Given the description of an element on the screen output the (x, y) to click on. 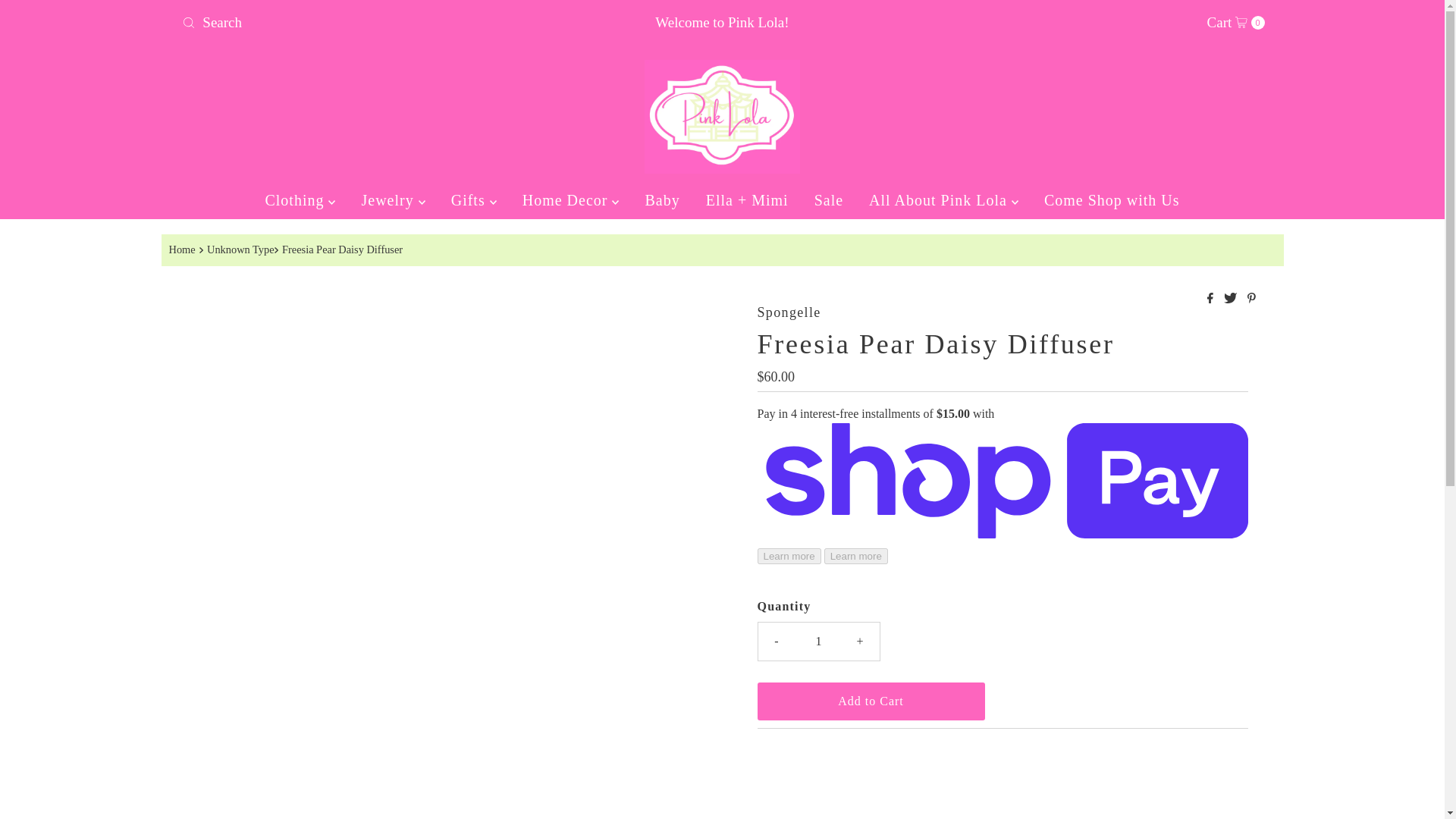
Share on Twitter (1232, 298)
1 (818, 641)
Add to Cart (1236, 22)
Search our store (870, 701)
Back to the frontpage (353, 22)
